Given the description of an element on the screen output the (x, y) to click on. 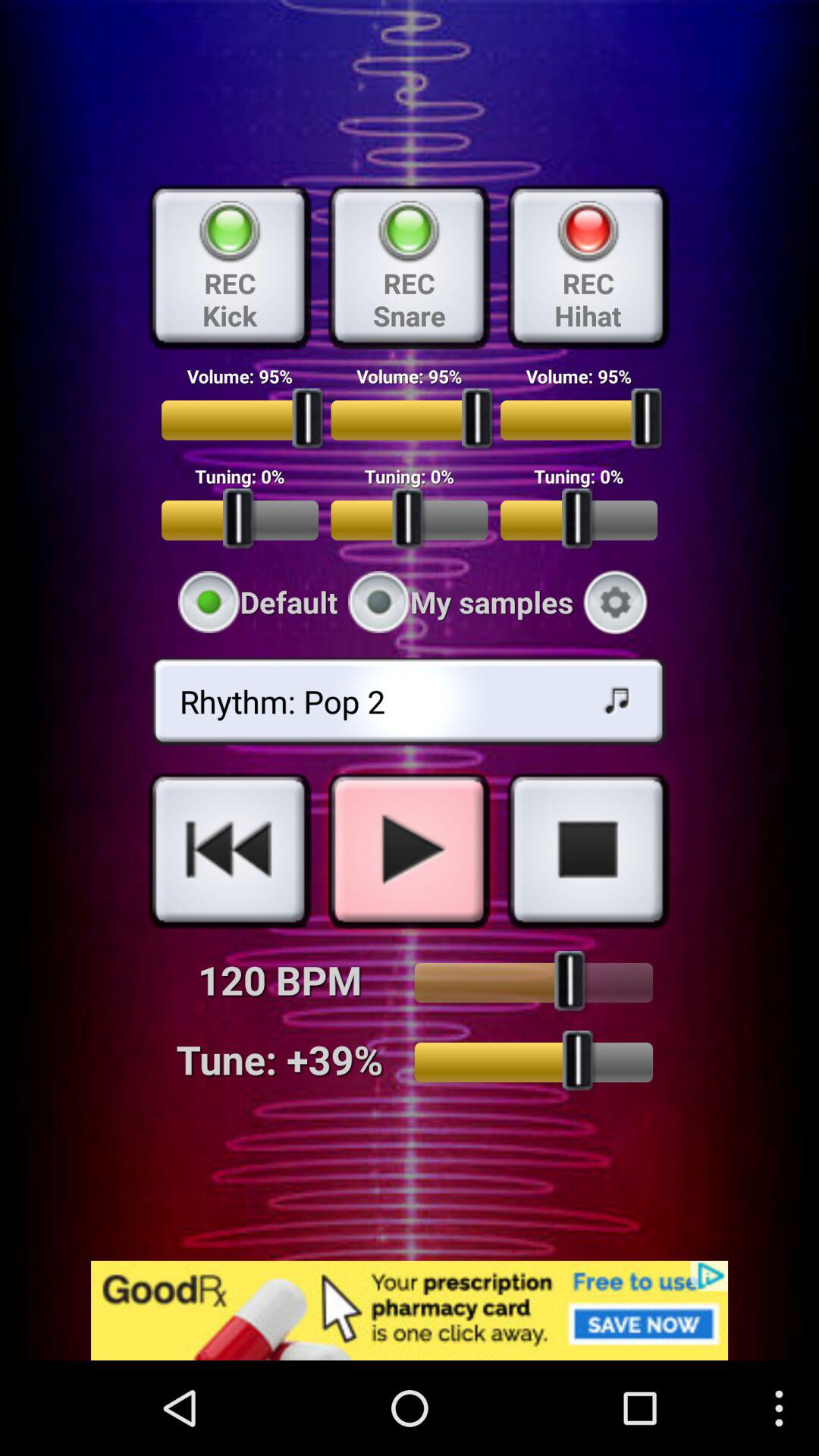
unrelated goodrx advertisement (409, 1310)
